Given the description of an element on the screen output the (x, y) to click on. 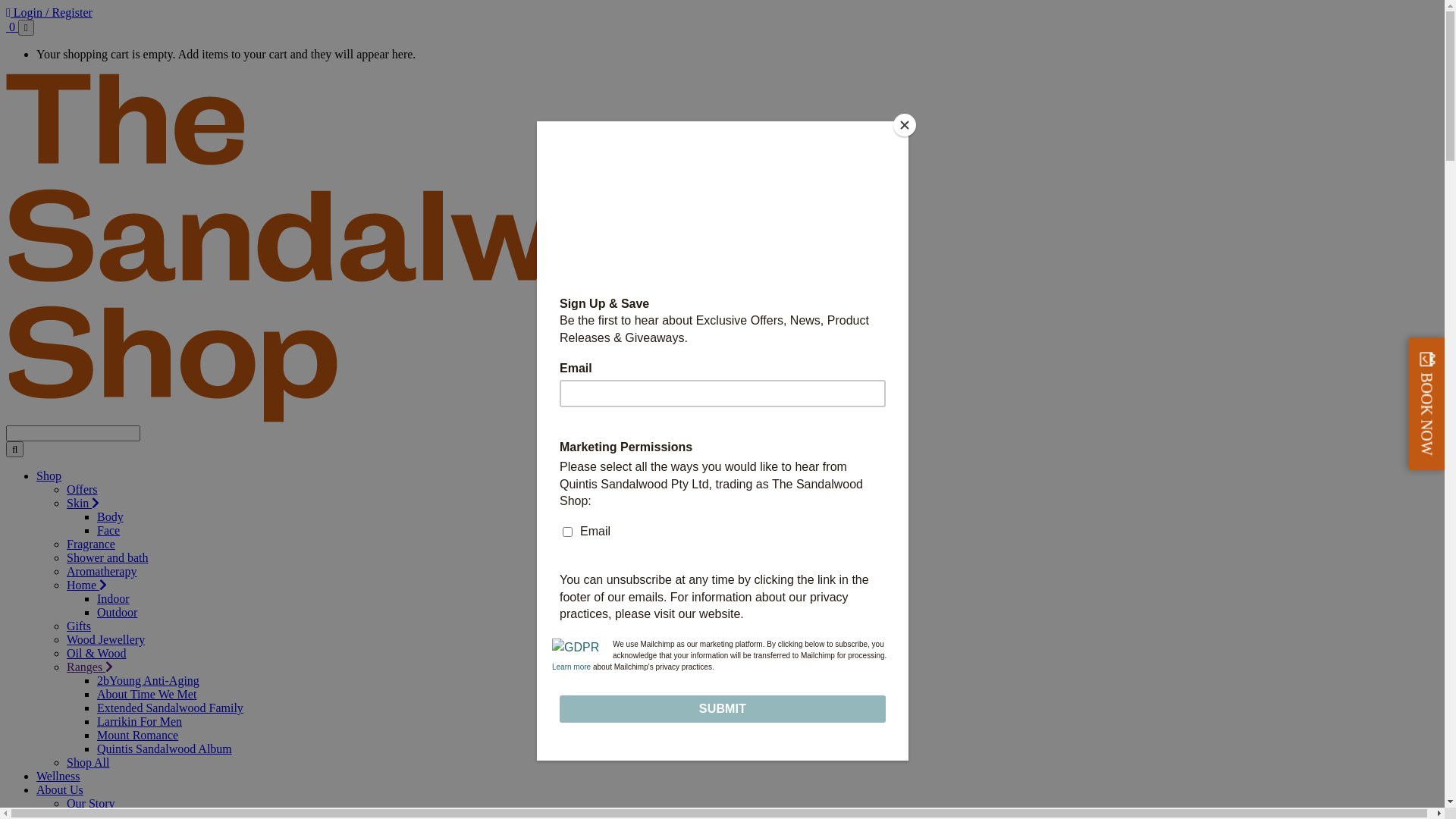
Outdoor Element type: text (117, 611)
Wood Jewellery Element type: text (105, 639)
Wellness Element type: text (57, 775)
Larrikin For Men Element type: text (139, 721)
Shop Element type: text (48, 475)
The Sandalwood Shop Element type: hover (404, 417)
Offers Element type: text (81, 489)
Skin Element type: text (82, 502)
Our Story Element type: text (90, 803)
Extended Sandalwood Family Element type: text (170, 707)
Shop All Element type: text (87, 762)
Face Element type: text (108, 530)
Home Element type: text (86, 584)
About Us Element type: text (59, 789)
Fragrance Element type: text (90, 543)
Oil & Wood Element type: text (95, 652)
2bYoung Anti-Aging Element type: text (148, 680)
Skip to main content Element type: text (5, 5)
Indoor Element type: text (113, 598)
Quintis Sandalwood Album Element type: text (164, 748)
About Time We Met Element type: text (146, 693)
Search Element type: text (14, 449)
Login / Register Element type: text (49, 12)
Gifts Element type: text (78, 625)
Ranges Element type: text (89, 666)
Body Element type: text (110, 516)
Aromatherapy Element type: text (101, 570)
Shower and bath Element type: text (107, 557)
0 Element type: text (12, 26)
Mount Romance Element type: text (137, 734)
